Given the description of an element on the screen output the (x, y) to click on. 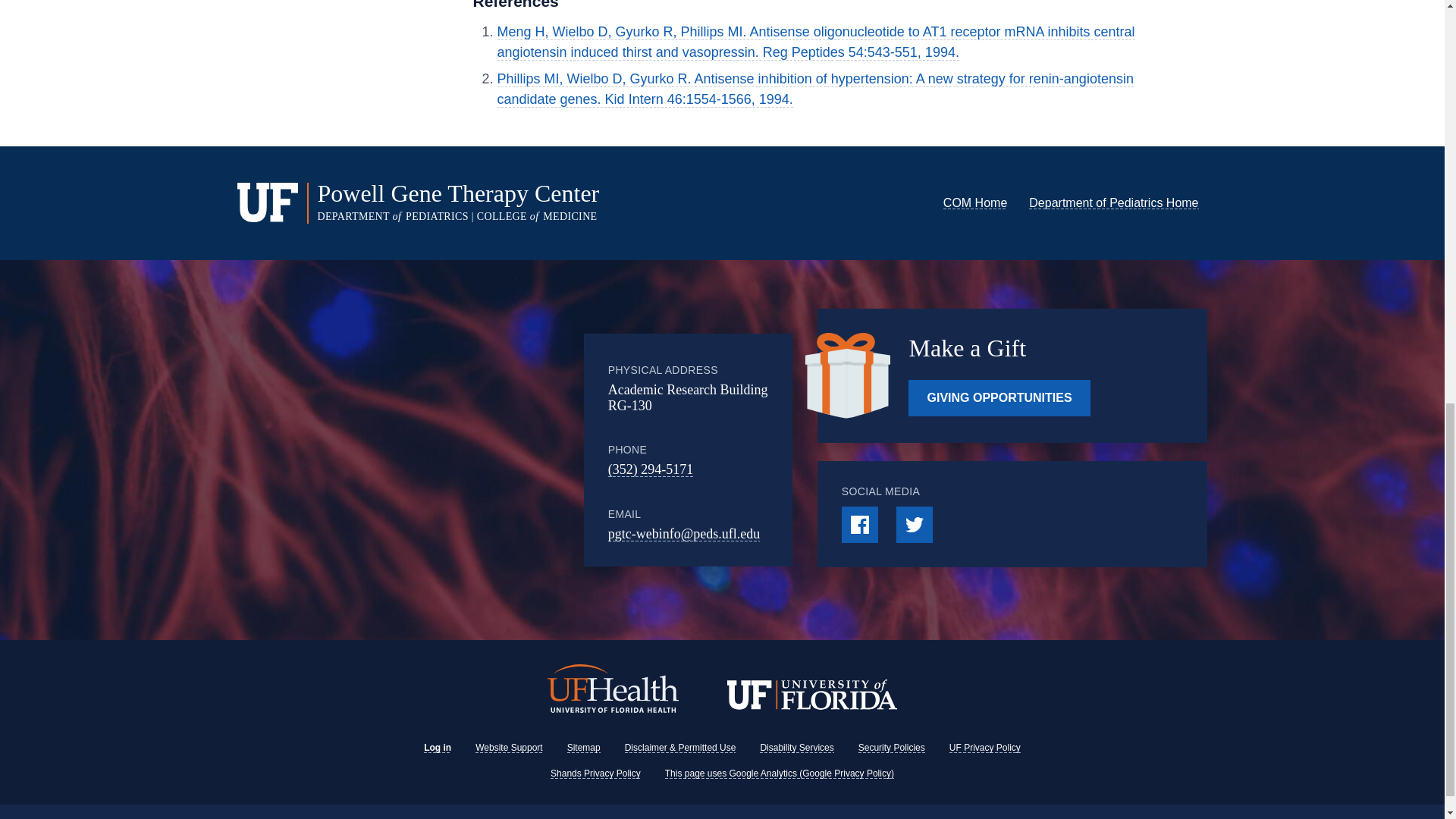
Department of Pediatrics Home (1113, 202)
Shands Privacy Policy (595, 773)
UF Privacy Policy (984, 747)
Sitemap (583, 747)
Website Support (509, 747)
Google Maps Embed (459, 449)
Disability Services (796, 747)
Security Policies (891, 747)
COM Home (975, 202)
Log in (437, 747)
